Given the description of an element on the screen output the (x, y) to click on. 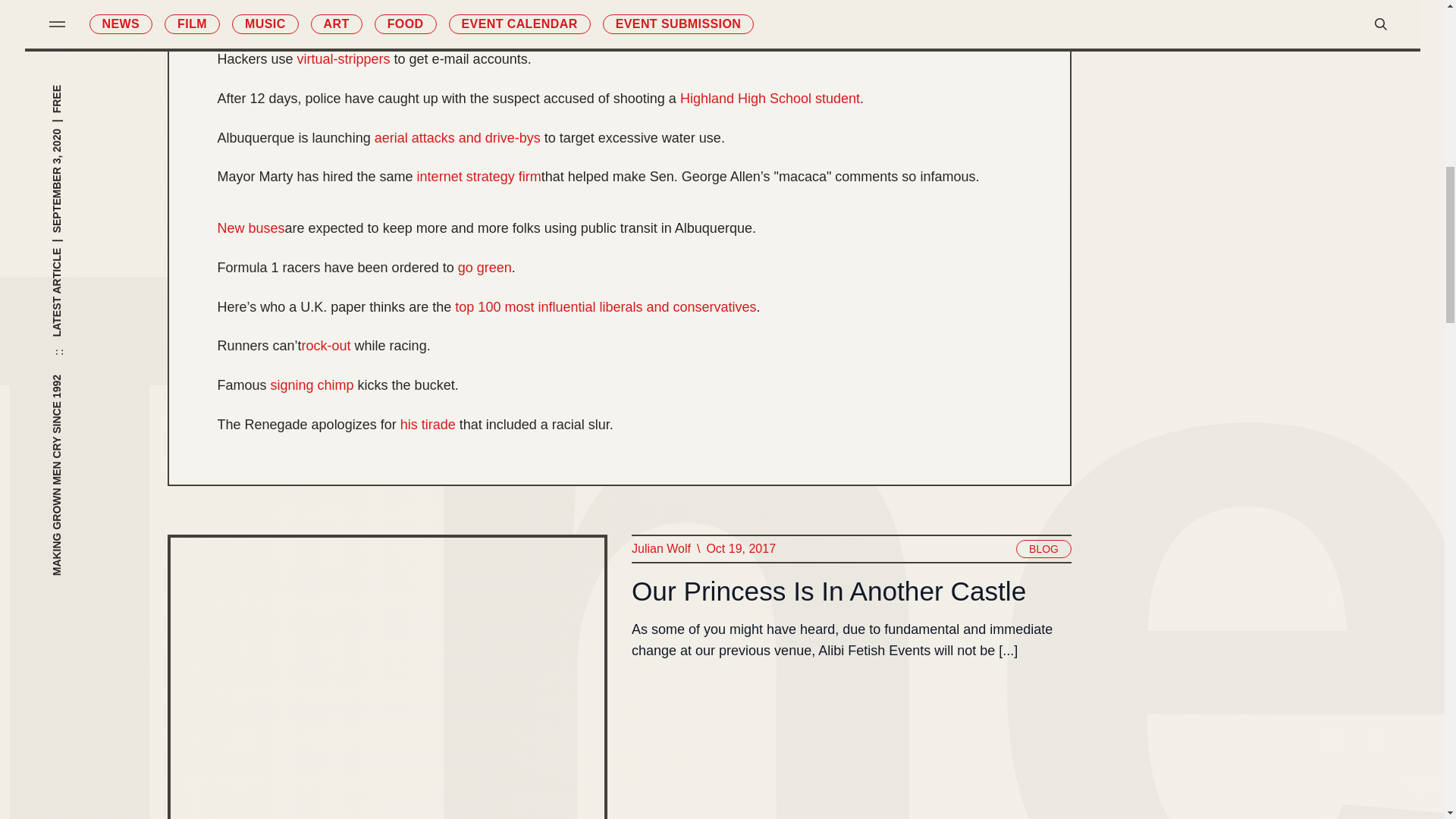
signing chimp (311, 385)
virtual-strippers (343, 59)
his tirade (427, 424)
New buses (249, 228)
internet strategy firm (478, 177)
go green (485, 268)
rock-out (325, 345)
BLOG (1043, 548)
Highland High School student (769, 98)
top 100 most influential liberals and conservatives (604, 307)
